Given the description of an element on the screen output the (x, y) to click on. 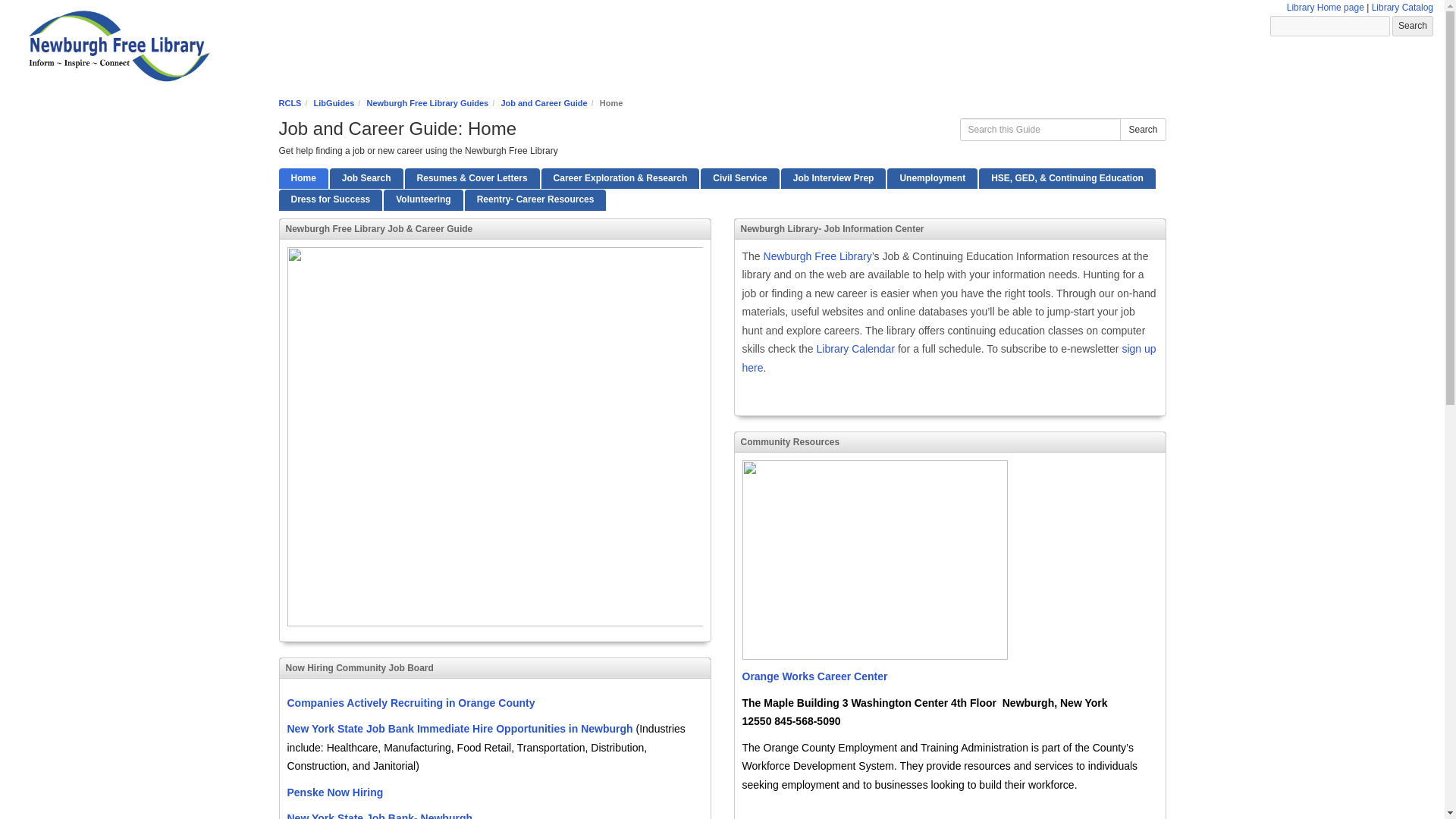
LibGuides (334, 102)
Home (304, 178)
Search (1411, 25)
Reentry- Career Resources (535, 199)
Library Catalog (1401, 7)
Job and Career Guide (543, 102)
Newburgh Free Library (817, 256)
sign up here (948, 358)
New York State Job Bank- Newburgh (378, 815)
Job Search (366, 178)
